Given the description of an element on the screen output the (x, y) to click on. 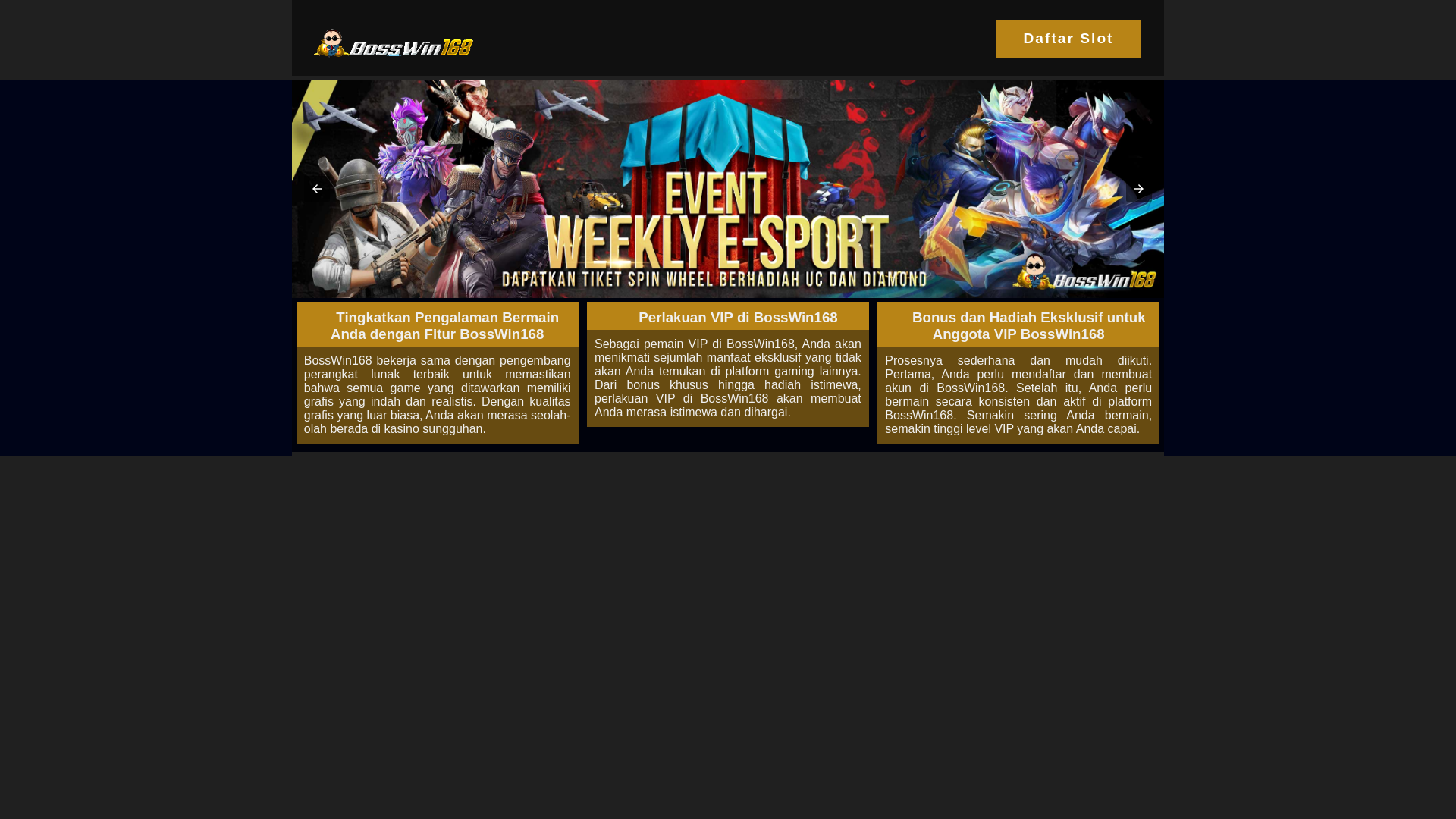
Next item in carousel (1 of 4) Element type: hover (1138, 188)
slot online Element type: hover (727, 188)
Previous item in carousel (3 of 4) Element type: hover (316, 188)
Daftar Slot Element type: text (1068, 38)
